Given the description of an element on the screen output the (x, y) to click on. 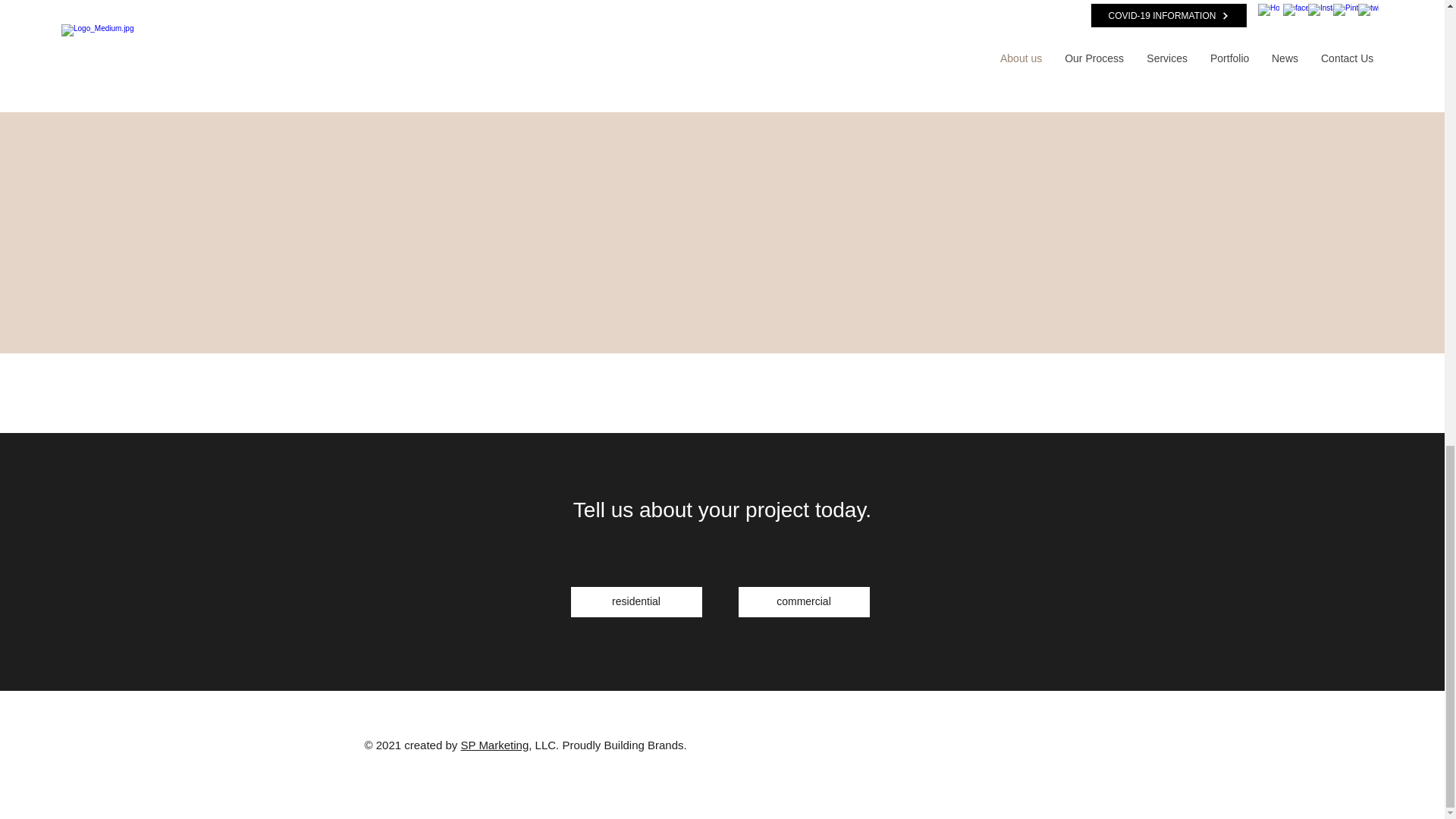
commercial (803, 602)
SP Marketing (494, 744)
residential (635, 602)
